Given the description of an element on the screen output the (x, y) to click on. 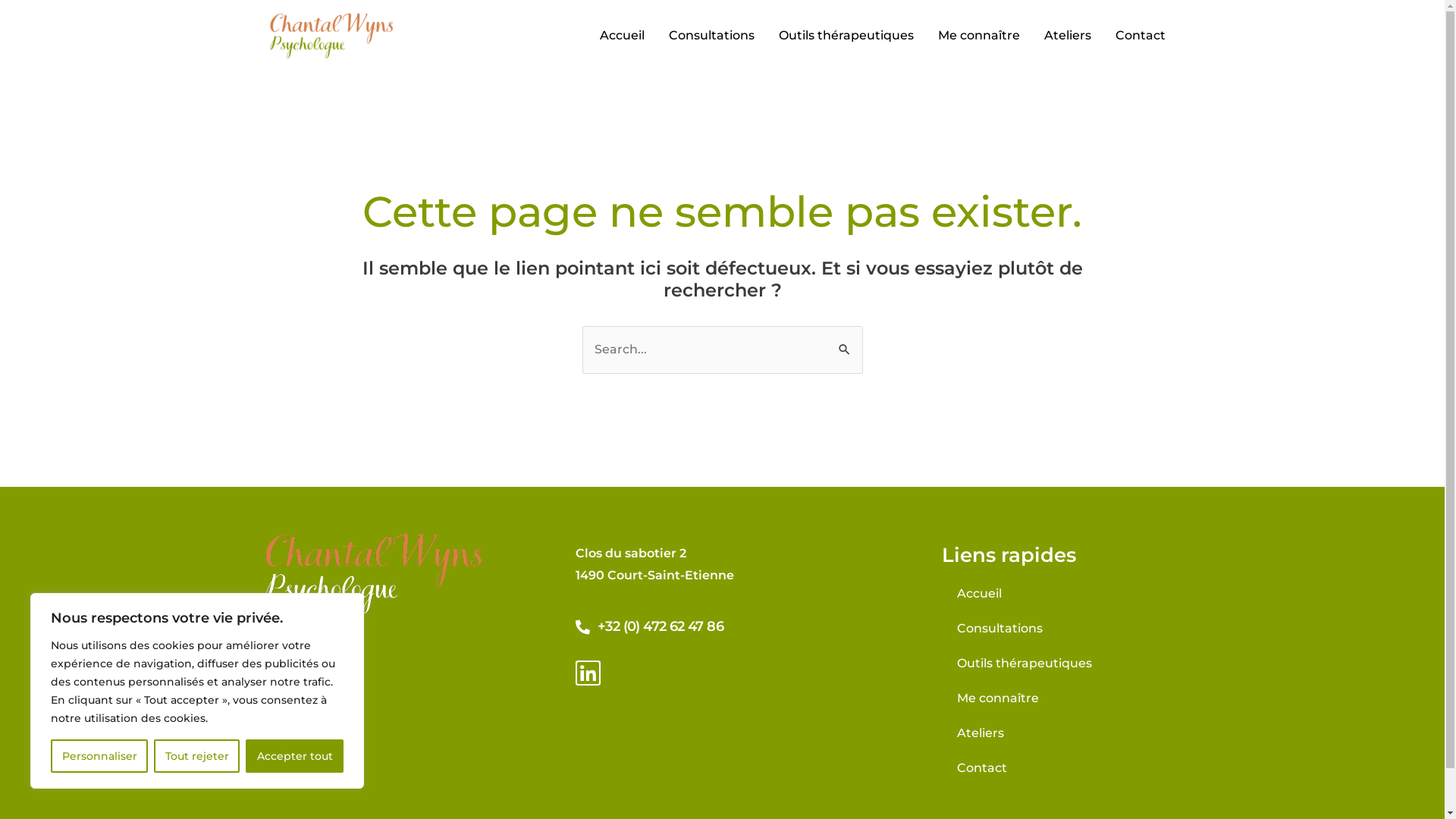
Ateliers Element type: text (1106, 732)
Accepter tout Element type: text (294, 755)
+32 (0) 472 62 47 86 Element type: text (740, 626)
Tout rejeter Element type: text (196, 755)
Accueil Element type: text (1106, 593)
Accueil Element type: text (620, 35)
Ateliers Element type: text (1066, 35)
Consultations Element type: text (711, 35)
Personnaliser Element type: text (98, 755)
Rechercher Element type: text (845, 341)
Contact Element type: text (1139, 35)
Consultations Element type: text (1106, 628)
Contact Element type: text (1106, 767)
Linkedin Element type: text (587, 672)
